Given the description of an element on the screen output the (x, y) to click on. 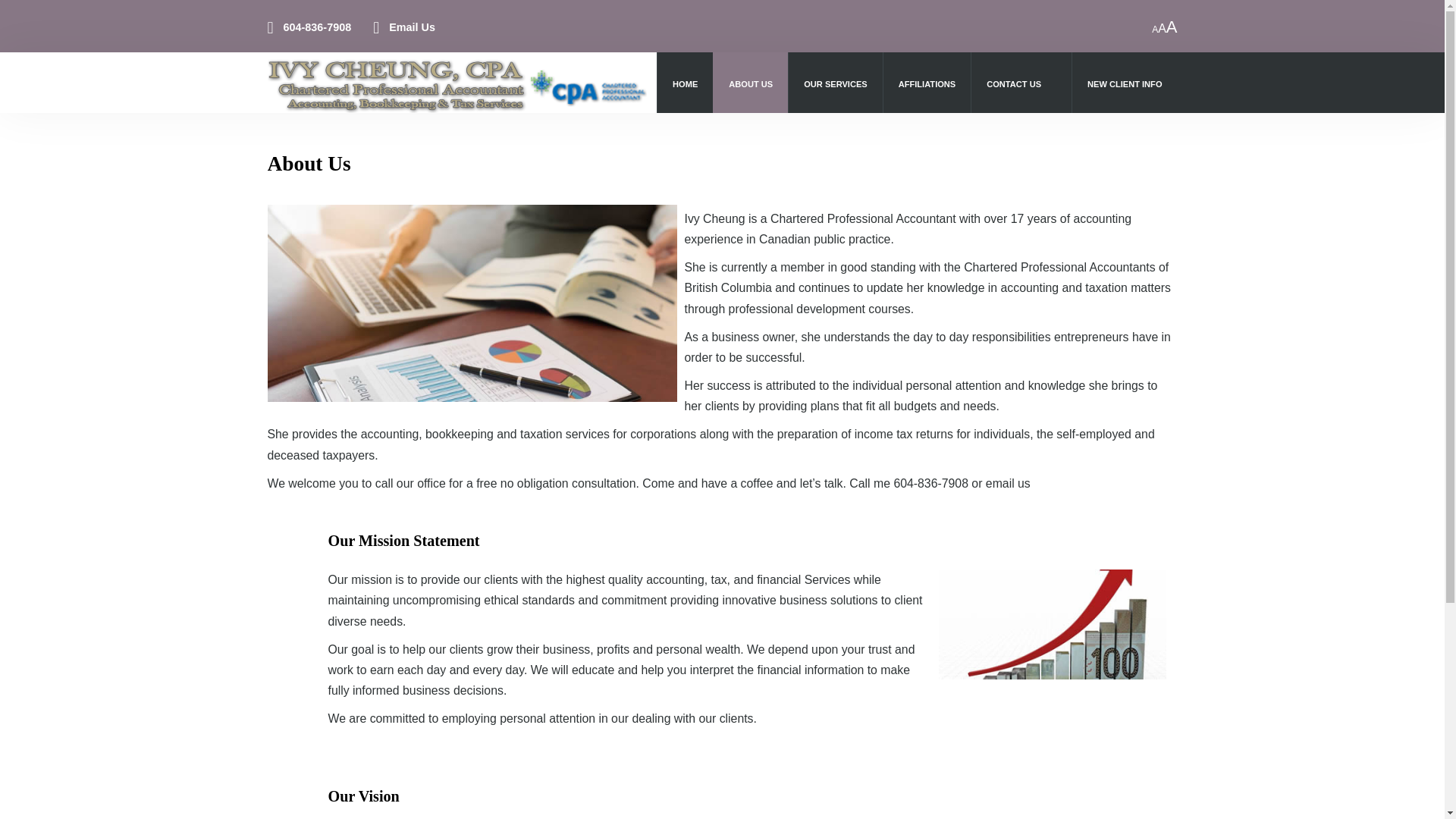
Click to Call (930, 482)
CONTACT US (1022, 84)
email us (1007, 482)
HOME (684, 84)
Email Us (1007, 482)
NEW CLIENT INFO (1124, 84)
ABOUT US (751, 84)
OUR SERVICES (835, 84)
Email Us (411, 27)
Ivy Cheung CPA (471, 303)
